Given the description of an element on the screen output the (x, y) to click on. 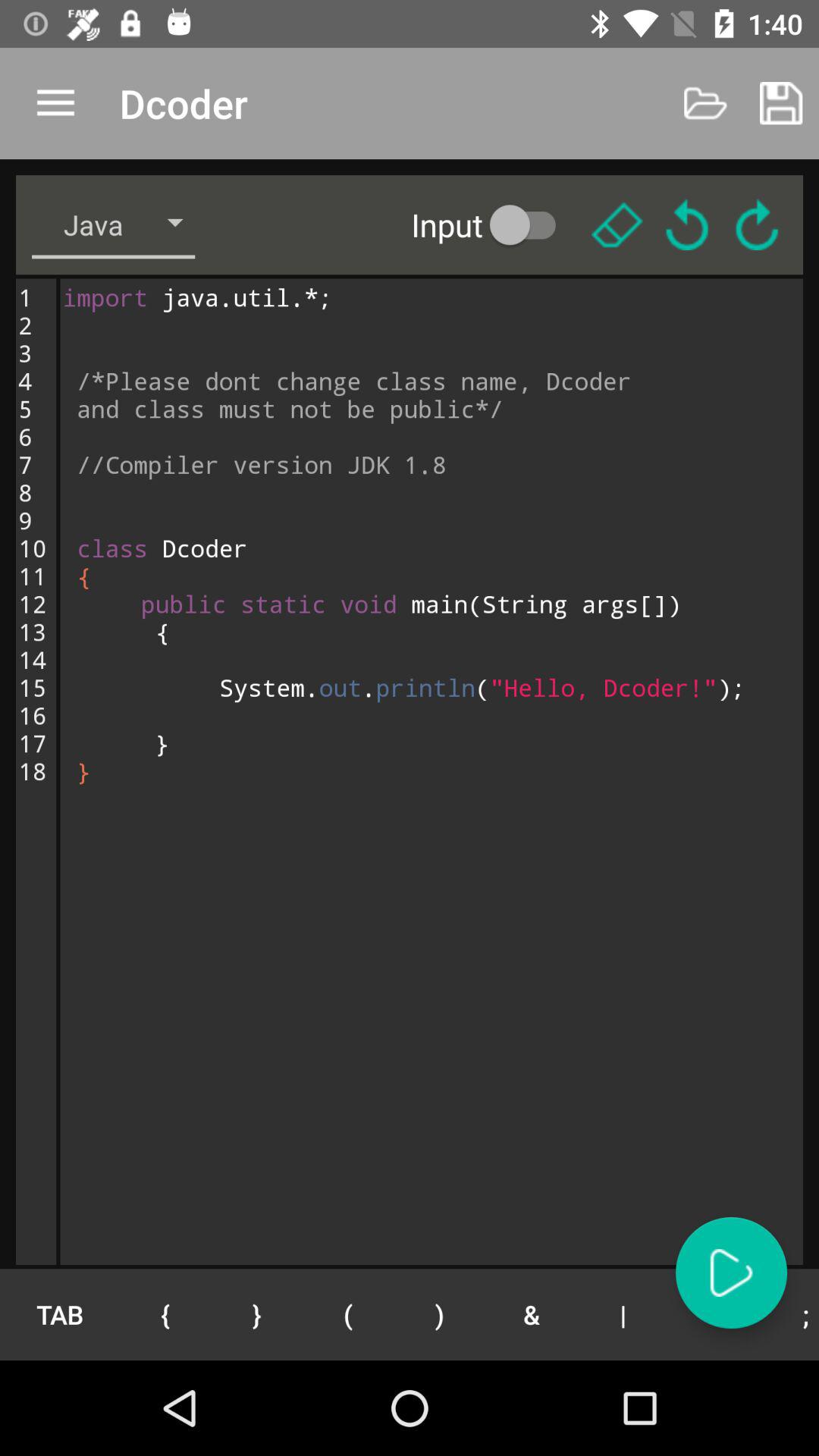
delete codes (616, 224)
